Given the description of an element on the screen output the (x, y) to click on. 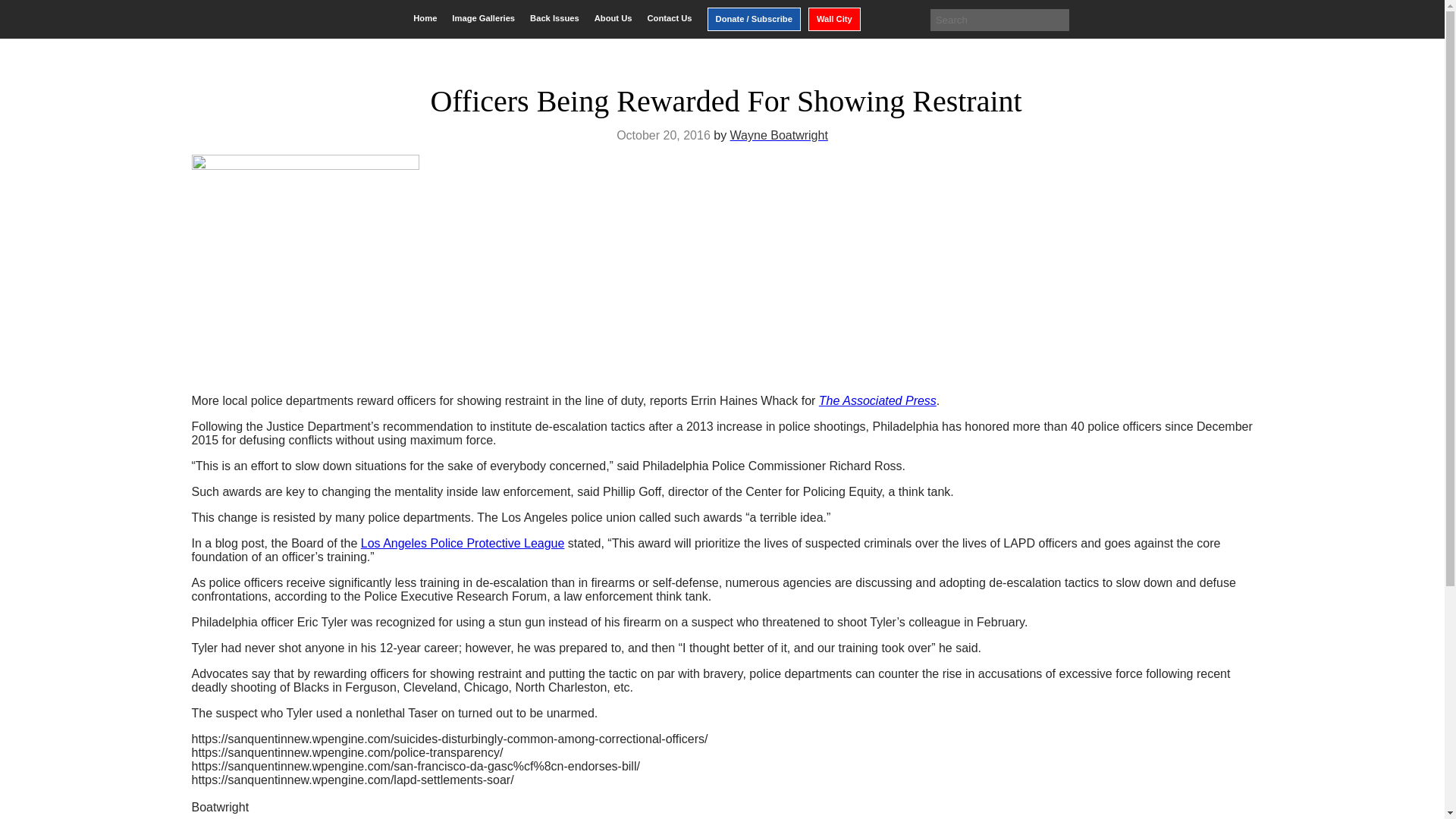
About Us (612, 17)
Search (22, 12)
Los Angeles Police Protective League (462, 543)
Image Galleries (483, 17)
Home (424, 17)
Back Issues (554, 17)
Contact Us (668, 17)
Wall City (833, 18)
Wayne Boatwright (779, 134)
The Associated Press (877, 400)
